Given the description of an element on the screen output the (x, y) to click on. 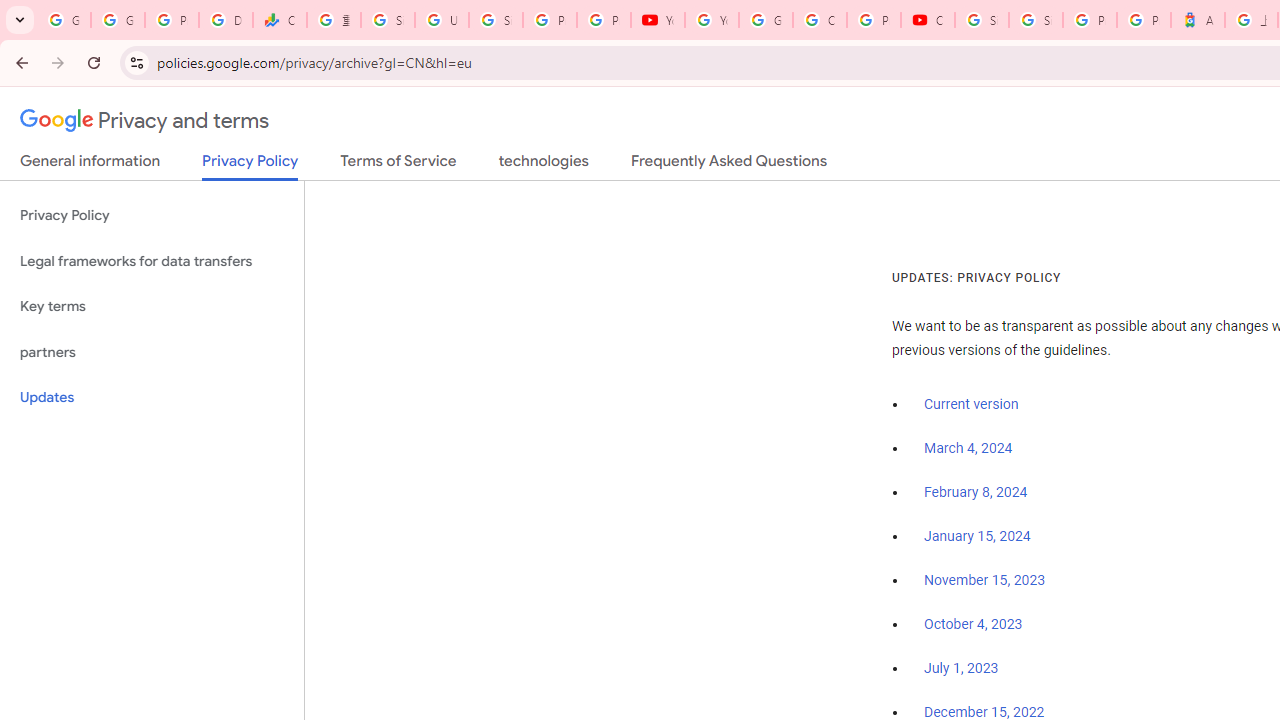
Sign in - Google Accounts (1035, 20)
January 15, 2024 (977, 536)
Google Account Help (765, 20)
Privacy and terms (145, 121)
YouTube (657, 20)
Current version (971, 404)
Frequently Asked Questions (727, 165)
Currencies - Google Finance (280, 20)
Sign in - Google Accounts (981, 20)
technologies (542, 165)
